Given the description of an element on the screen output the (x, y) to click on. 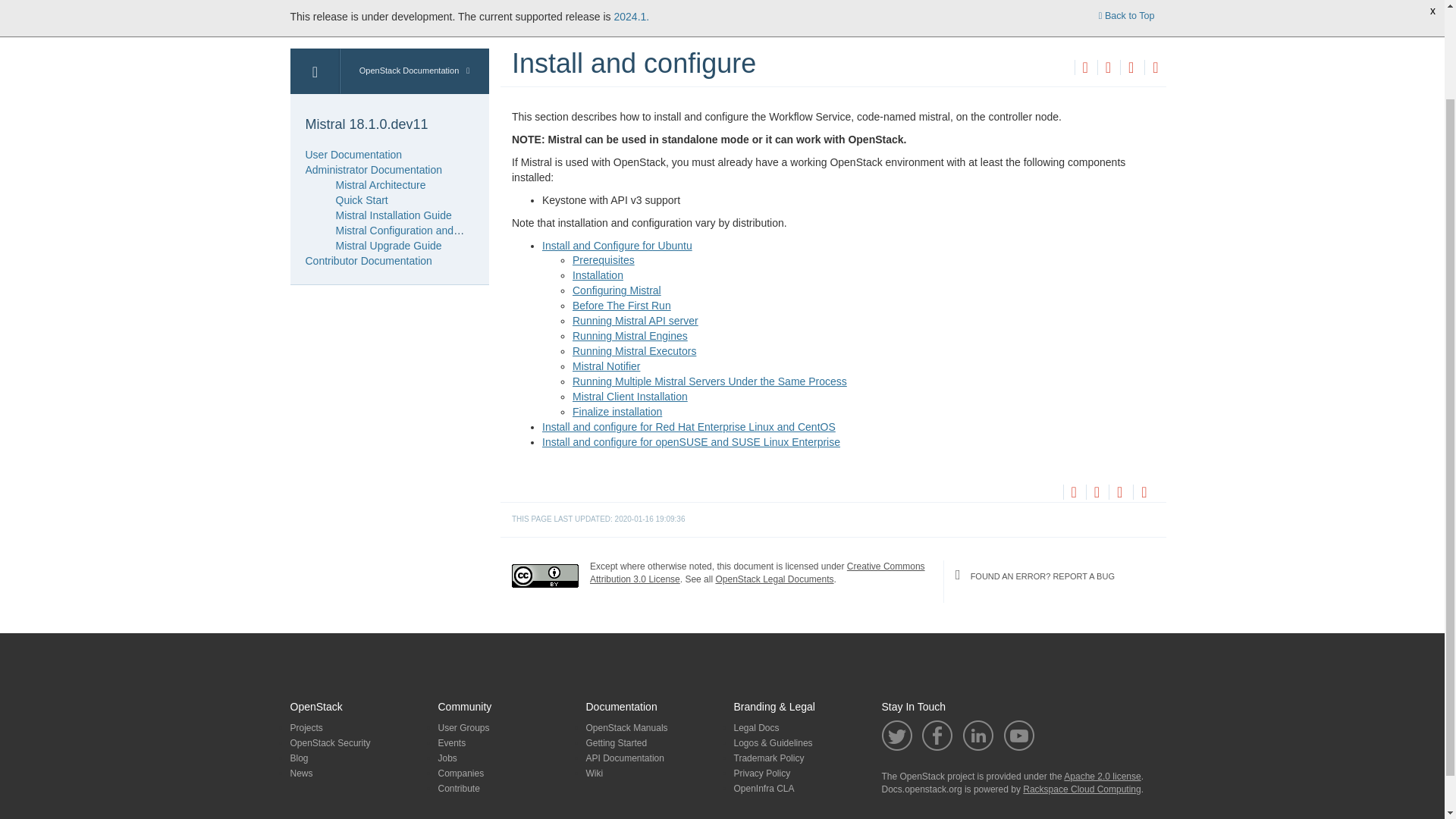
Download the manuals as PDF (1130, 69)
Found an error? Report a bug against this page (1155, 69)
Download the manuals as PDF (1118, 493)
Found an error? Report a bug against this page (1143, 493)
